Given the description of an element on the screen output the (x, y) to click on. 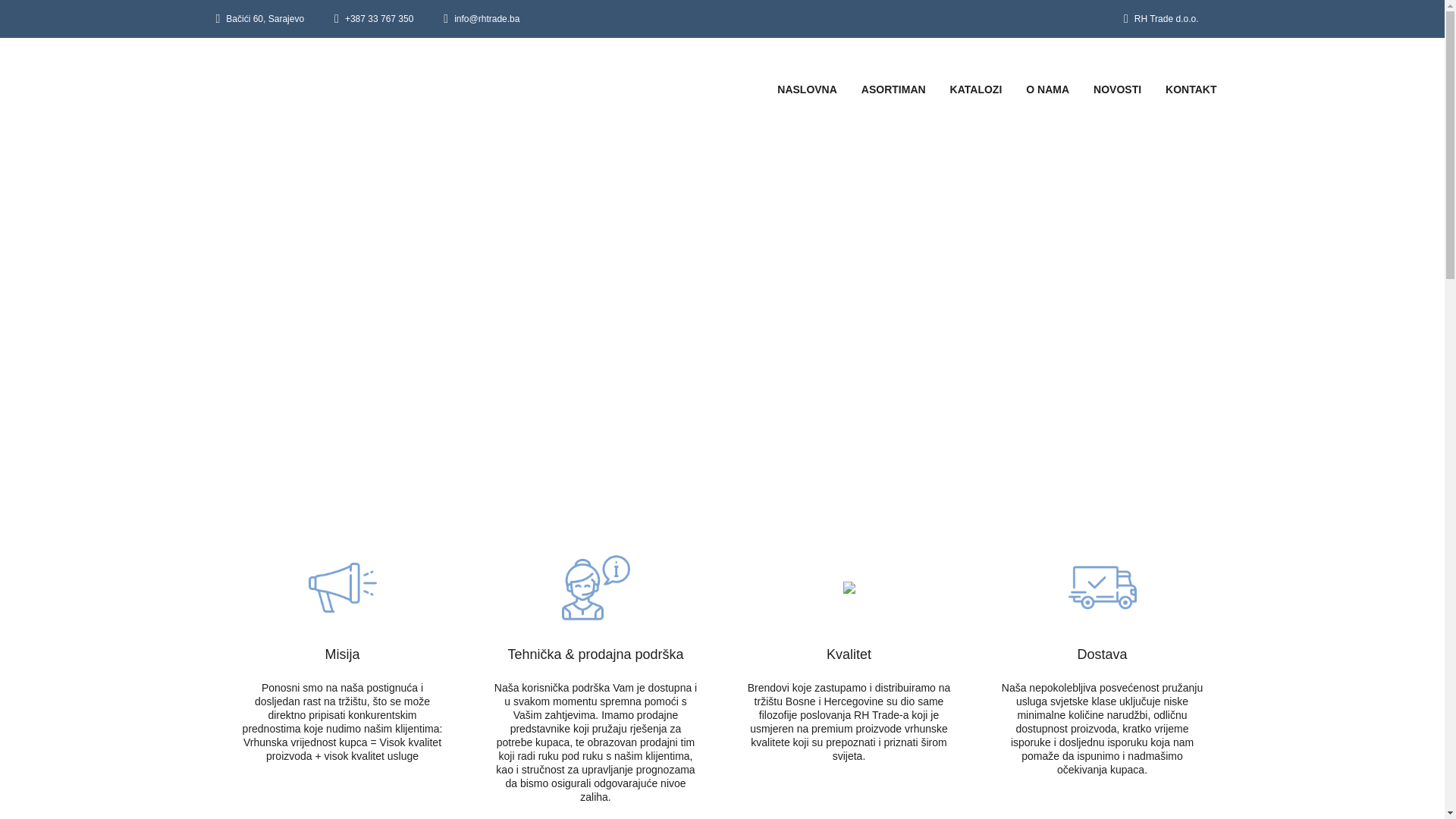
ASORTIMAN Element type: text (893, 89)
NOVOSTI Element type: text (1117, 89)
O NAMA Element type: text (1047, 89)
KATALOZI Element type: text (976, 89)
NASLOVNA Element type: text (807, 89)
KONTAKT Element type: text (1190, 89)
RH Trade d.o.o. Element type: text (1166, 18)
